Given the description of an element on the screen output the (x, y) to click on. 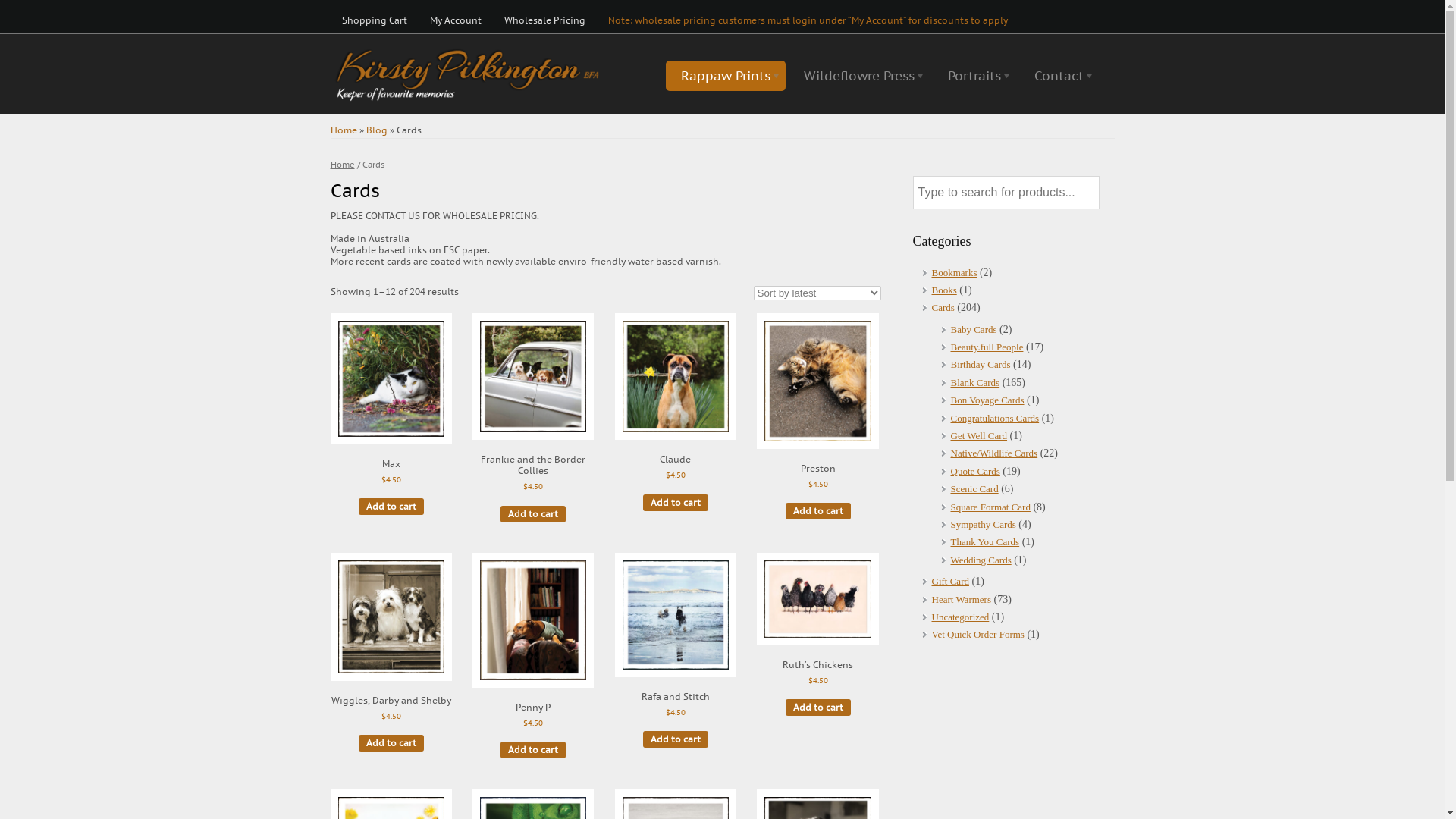
Books Element type: text (943, 289)
Vet Quick Order Forms Element type: text (977, 634)
My Account Element type: text (455, 19)
Native/Wildlife Cards Element type: text (994, 452)
Home Element type: text (343, 129)
Wiggles, Darby and Shelby
$4.50 Element type: text (390, 650)
Add to cart Element type: text (532, 749)
Home Element type: text (342, 164)
Add to cart Element type: text (390, 506)
Preston
$4.50 Element type: text (817, 414)
Rappaw Prints Element type: text (725, 75)
Congratulations Cards Element type: text (994, 417)
Max
$4.50 Element type: text (390, 412)
Add to cart Element type: text (817, 707)
Birthday Cards Element type: text (980, 364)
Sympathy Cards Element type: text (983, 524)
Add to cart Element type: text (817, 510)
Add to cart Element type: text (675, 502)
Gift Card Element type: text (949, 580)
Bookmarks Element type: text (953, 272)
Blank Cards Element type: text (975, 382)
Contact Element type: text (1058, 75)
Wedding Cards Element type: text (980, 559)
Penny P
$4.50 Element type: text (532, 653)
Blog Element type: text (375, 129)
Add to cart Element type: text (675, 739)
Cards Element type: text (942, 307)
Bon Voyage Cards Element type: text (987, 399)
Uncategorized Element type: text (959, 616)
Add to cart Element type: text (390, 742)
Rafa and Stitch
$4.50 Element type: text (675, 648)
Quote Cards Element type: text (975, 470)
Scenic Card Element type: text (974, 488)
Wildeflowre Press Element type: text (858, 75)
Claude
$4.50 Element type: text (675, 410)
Add to cart Element type: text (532, 513)
Portraits Element type: text (974, 75)
Frankie and the Border Collies
$4.50 Element type: text (532, 415)
Get Well Card Element type: text (978, 435)
Wholesale Pricing Element type: text (544, 19)
Baby Cards Element type: text (973, 329)
Shopping Cart Element type: text (374, 19)
Beauty.full People Element type: text (986, 346)
Heart Warmers Element type: text (960, 599)
Square Format Card Element type: text (990, 506)
Thank You Cards Element type: text (984, 541)
